Given the description of an element on the screen output the (x, y) to click on. 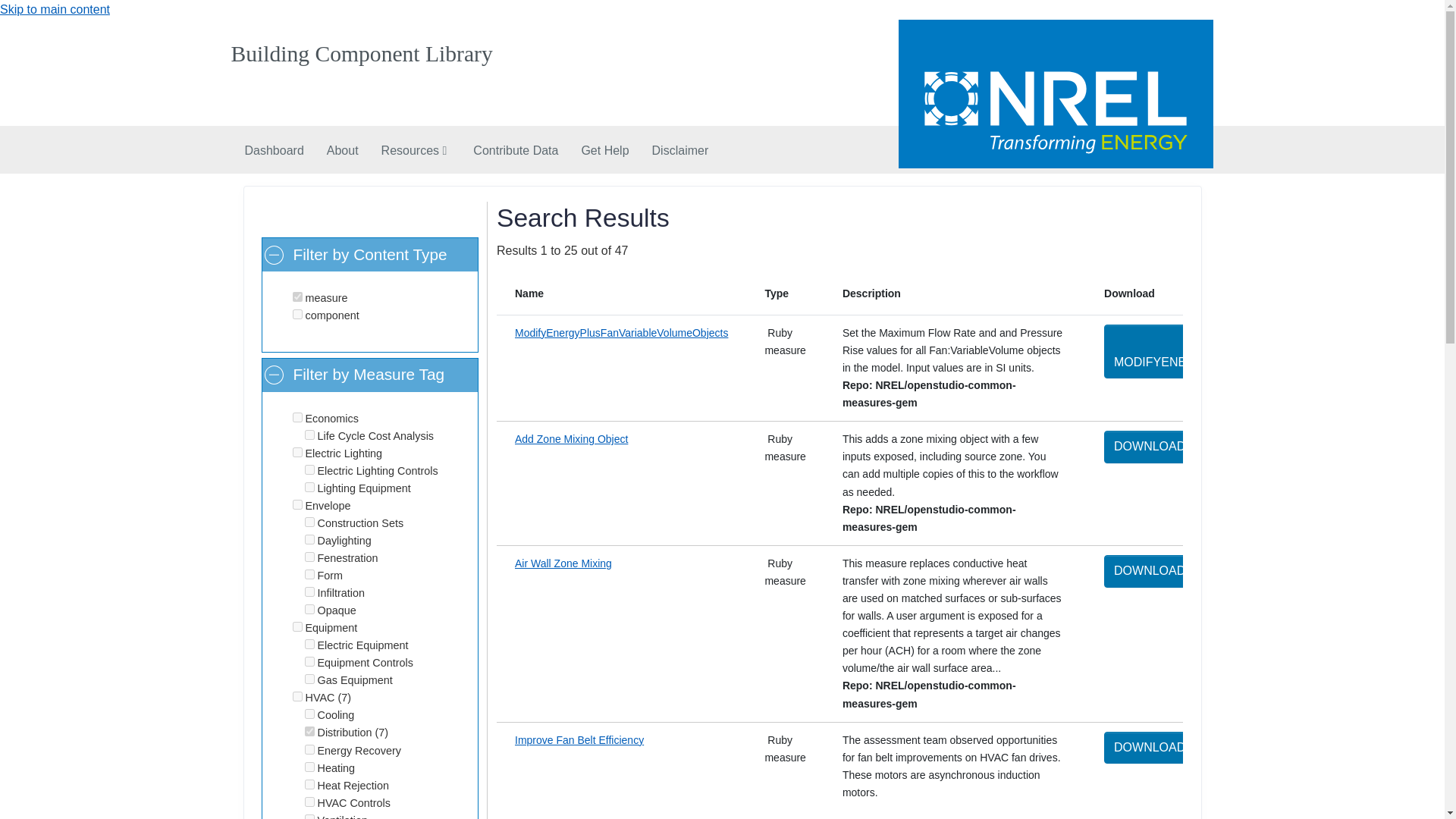
Envelope (297, 504)
Economics (297, 417)
Envelope.Construction Sets (309, 521)
DOWNLOAD ADD ZONE MIXING OBJECT (1230, 446)
DOWNLOAD IMPROVE FAN BELT EFFICIENCY (1246, 748)
Electric Lighting.Lighting Equipment (309, 487)
Envelope.Infiltration (309, 592)
Electric Lighting.Electric Lighting Controls (309, 470)
Electric Lighting (297, 452)
Air Wall Zone Mixing (563, 563)
